Given the description of an element on the screen output the (x, y) to click on. 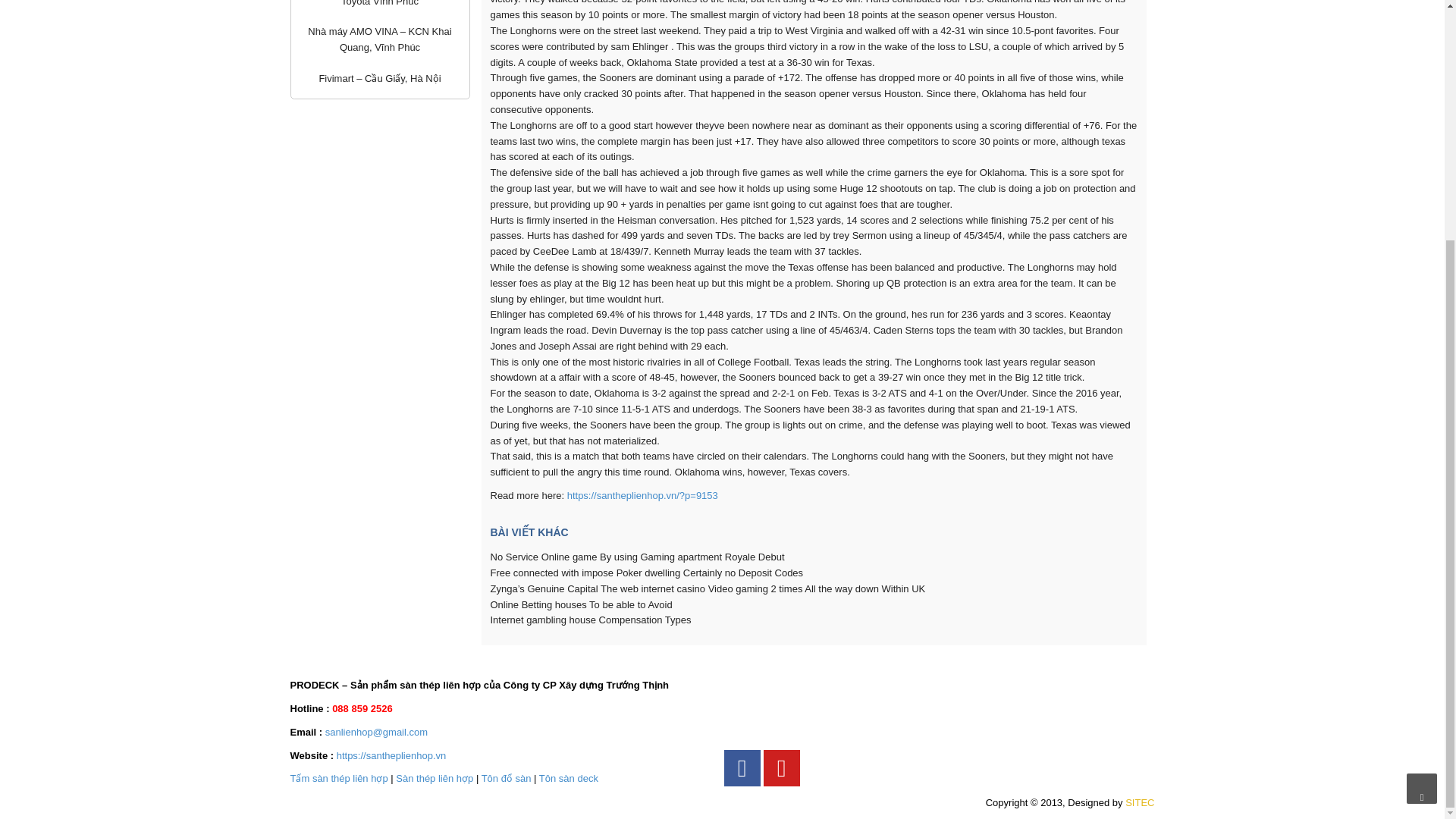
tam san thep lien hop (338, 778)
ton san deck (568, 778)
Internet gambling house Compensation Types (589, 619)
san thep lien hop (434, 778)
Internet gambling house Compensation Types (589, 619)
ton do san (506, 778)
